Given the description of an element on the screen output the (x, y) to click on. 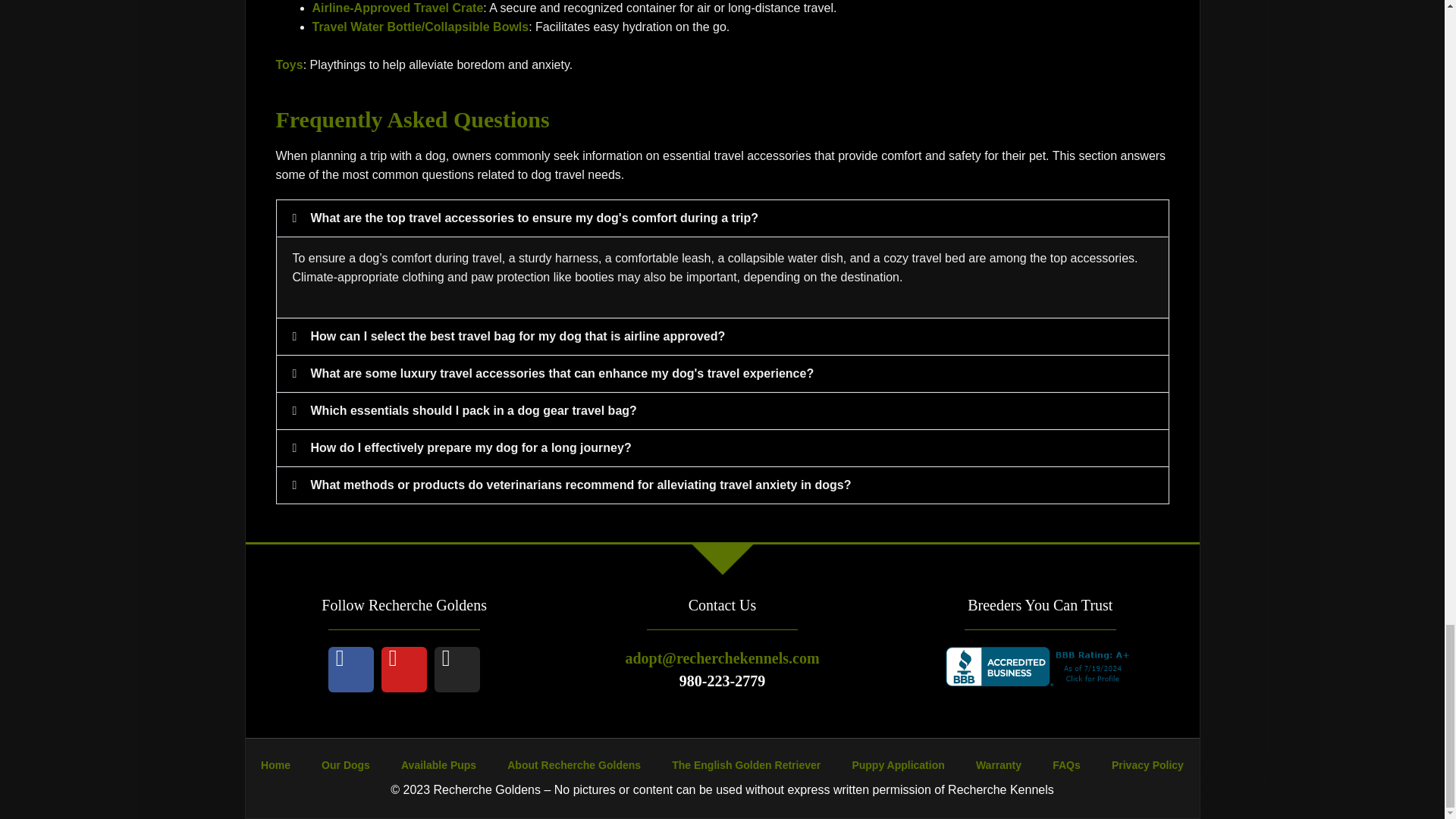
Which essentials should I pack in a dog gear travel bag? (474, 410)
